Given the description of an element on the screen output the (x, y) to click on. 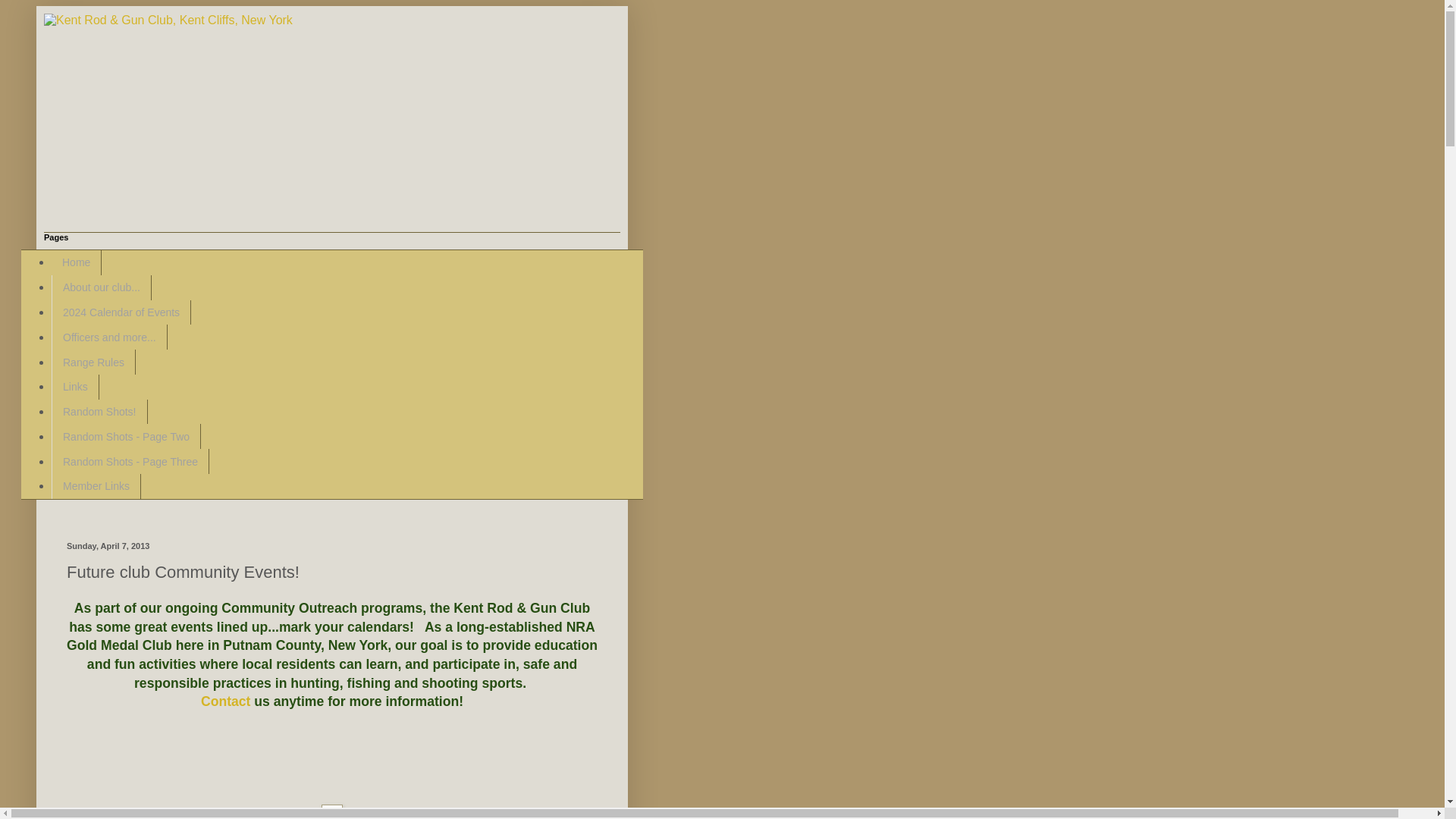
Officers and more... (108, 336)
About our club... (100, 287)
Contact (225, 701)
Range Rules (92, 361)
Links (74, 386)
Random Shots - Page Two (125, 436)
Member Links (95, 486)
2024 Calendar of Events (120, 312)
Random Shots - Page Three (129, 461)
Home (75, 262)
Random Shots! (99, 412)
